Given the description of an element on the screen output the (x, y) to click on. 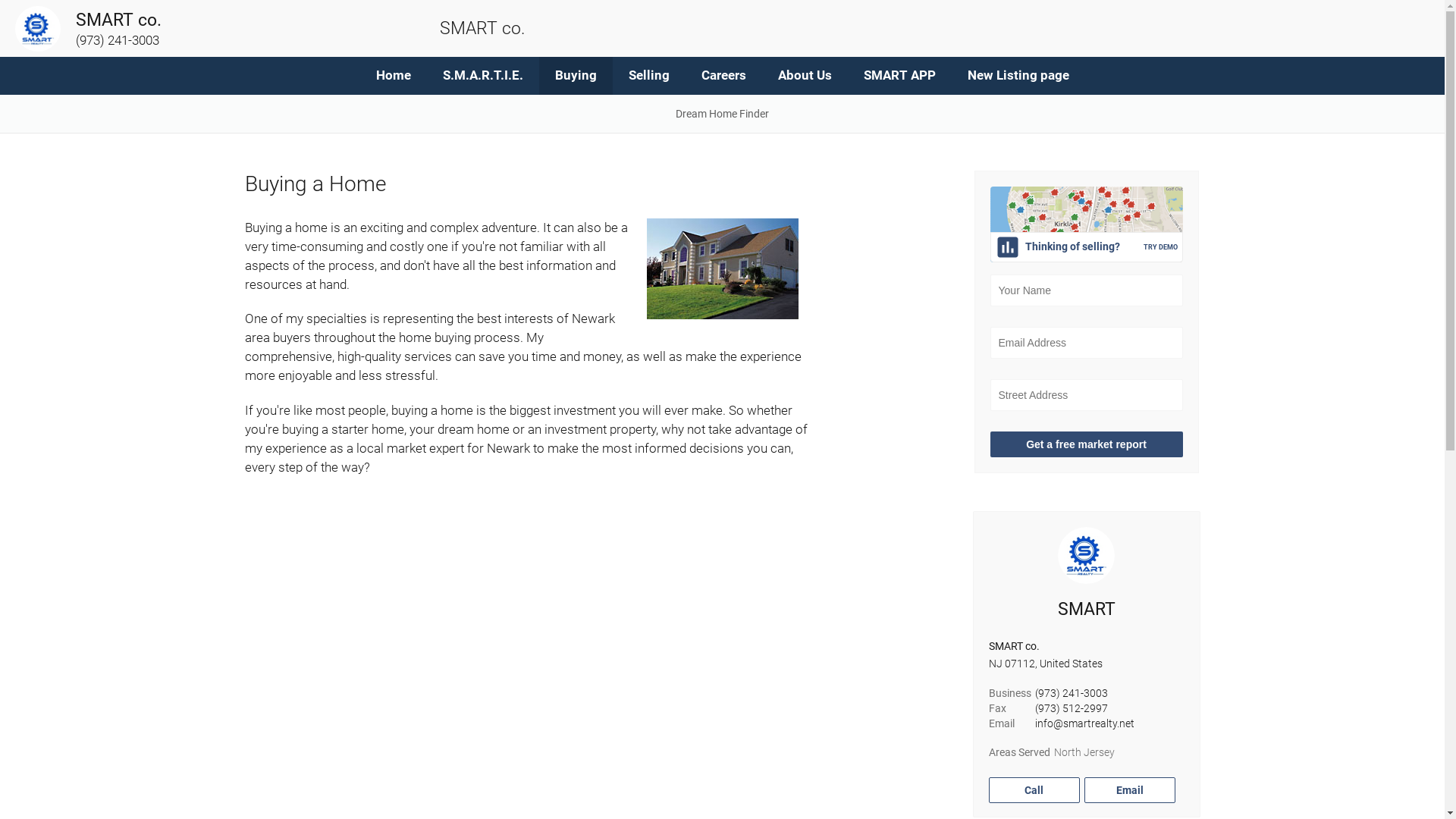
Get a free market report Element type: text (1086, 444)
Thinking of selling? Element type: text (1086, 247)
About Us Element type: text (804, 75)
Dream Home Finder Element type: text (722, 113)
Email Element type: text (1129, 790)
Buying Element type: text (574, 75)
Careers Element type: text (723, 75)
(973) 241-3003 Element type: text (1071, 693)
Selling Element type: text (648, 75)
S.M.A.R.T.I.E. Element type: text (482, 75)
Home Element type: text (392, 75)
(973) 512-2997 Element type: text (1071, 708)
New Listing page Element type: text (1017, 75)
info@smartrealty.net Element type: text (1084, 723)
Call Element type: text (1033, 790)
SMART APP Element type: text (899, 75)
